Given the description of an element on the screen output the (x, y) to click on. 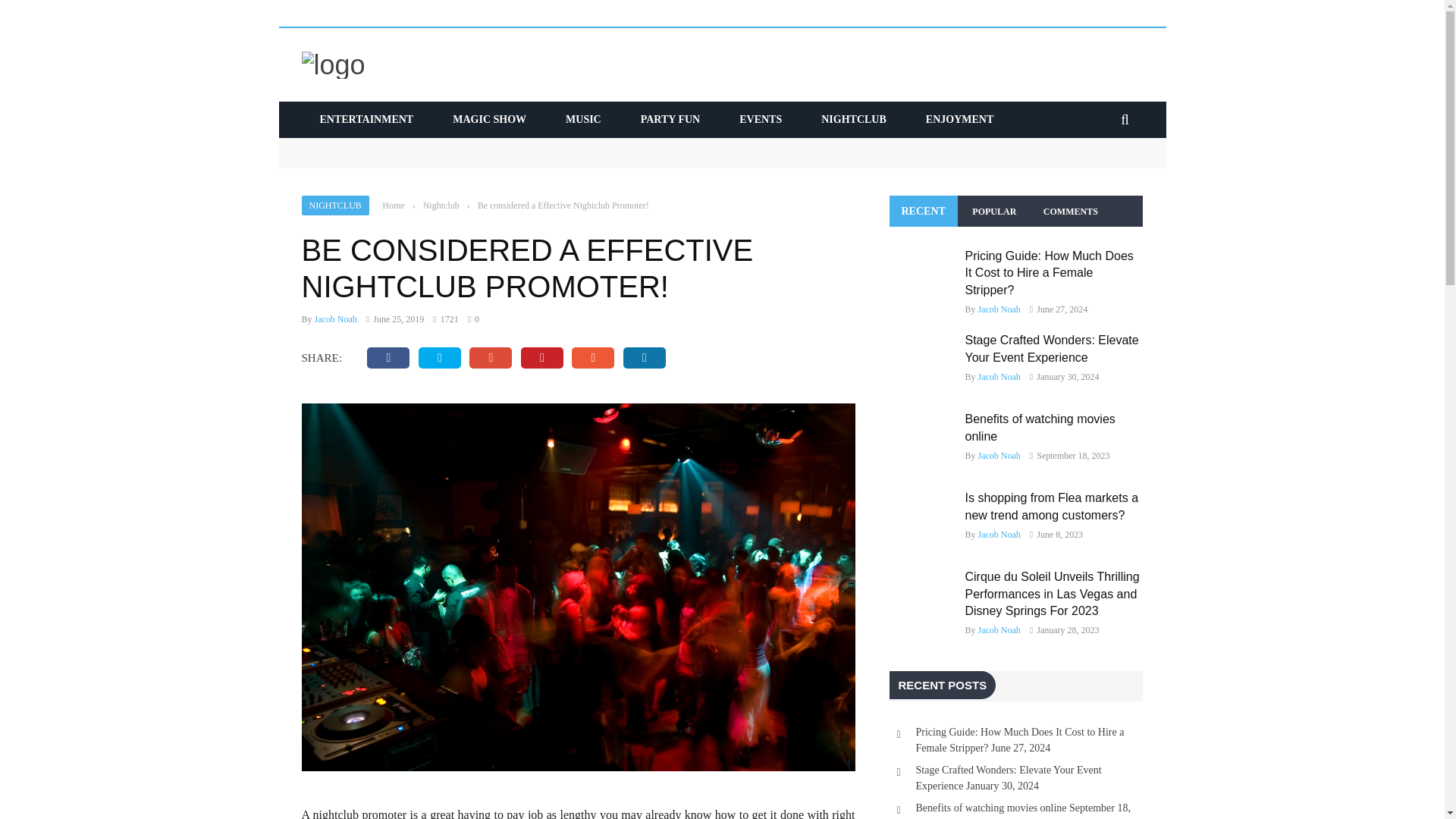
NIGHTCLUB (335, 205)
Nightclub (441, 204)
PARTY FUN (670, 119)
ENTERTAINMENT (366, 119)
Linkedin (644, 357)
ENJOYMENT (959, 119)
MAGIC SHOW (488, 119)
Twitter (440, 357)
NIGHTCLUB (853, 119)
MUSIC (583, 119)
Home (392, 204)
Stumbleupon (593, 357)
Google Plus (490, 357)
EVENTS (759, 119)
Pinterest (542, 357)
